Given the description of an element on the screen output the (x, y) to click on. 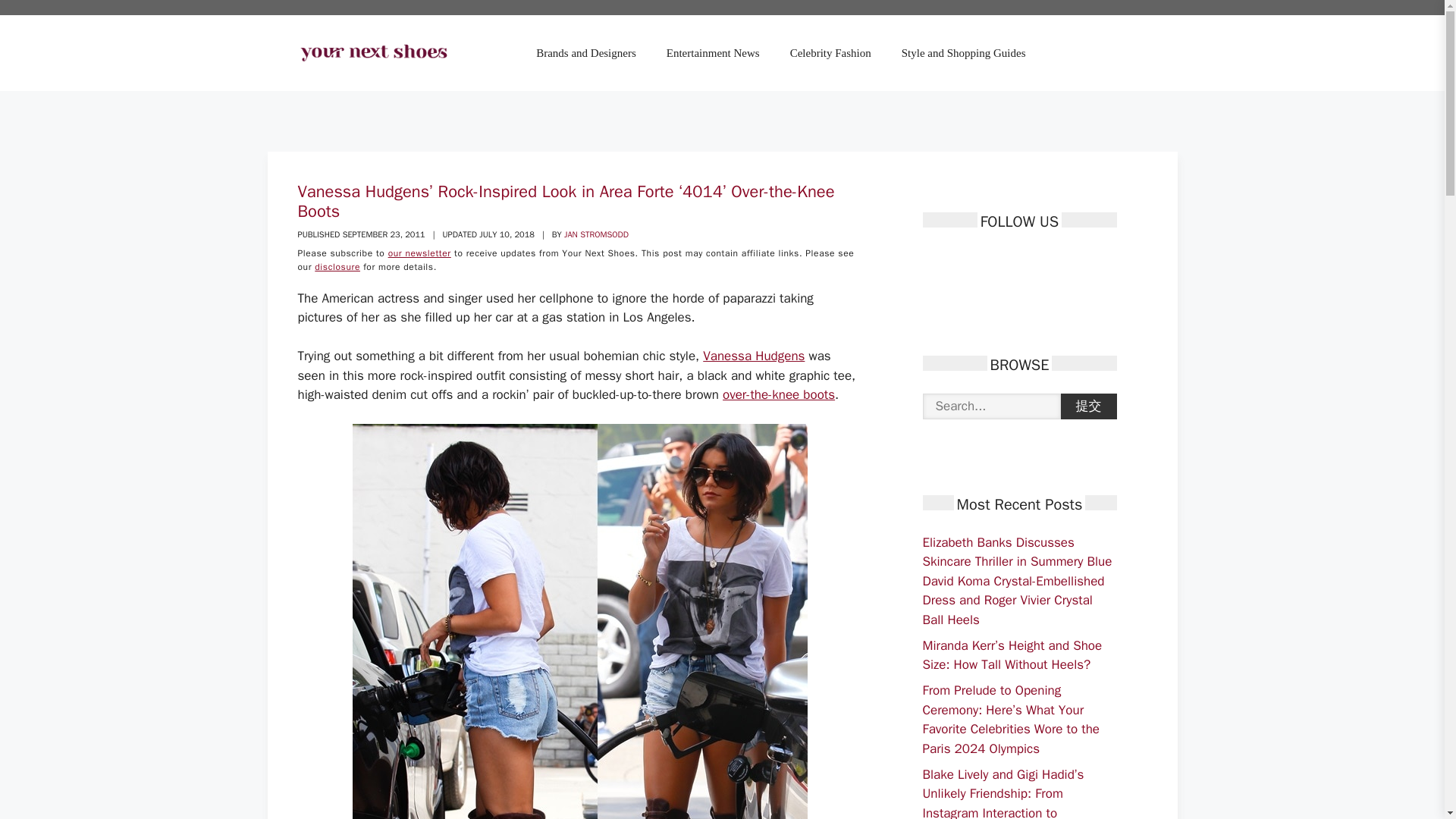
Entertainment News (712, 53)
over-the-knee boots (778, 394)
disclosure (336, 266)
Style and Shopping Guides (963, 53)
Celebrity Fashion (830, 53)
Facebook (932, 261)
Vanessa Hudgens (754, 355)
our newsletter (419, 253)
Twitter (960, 261)
